Given the description of an element on the screen output the (x, y) to click on. 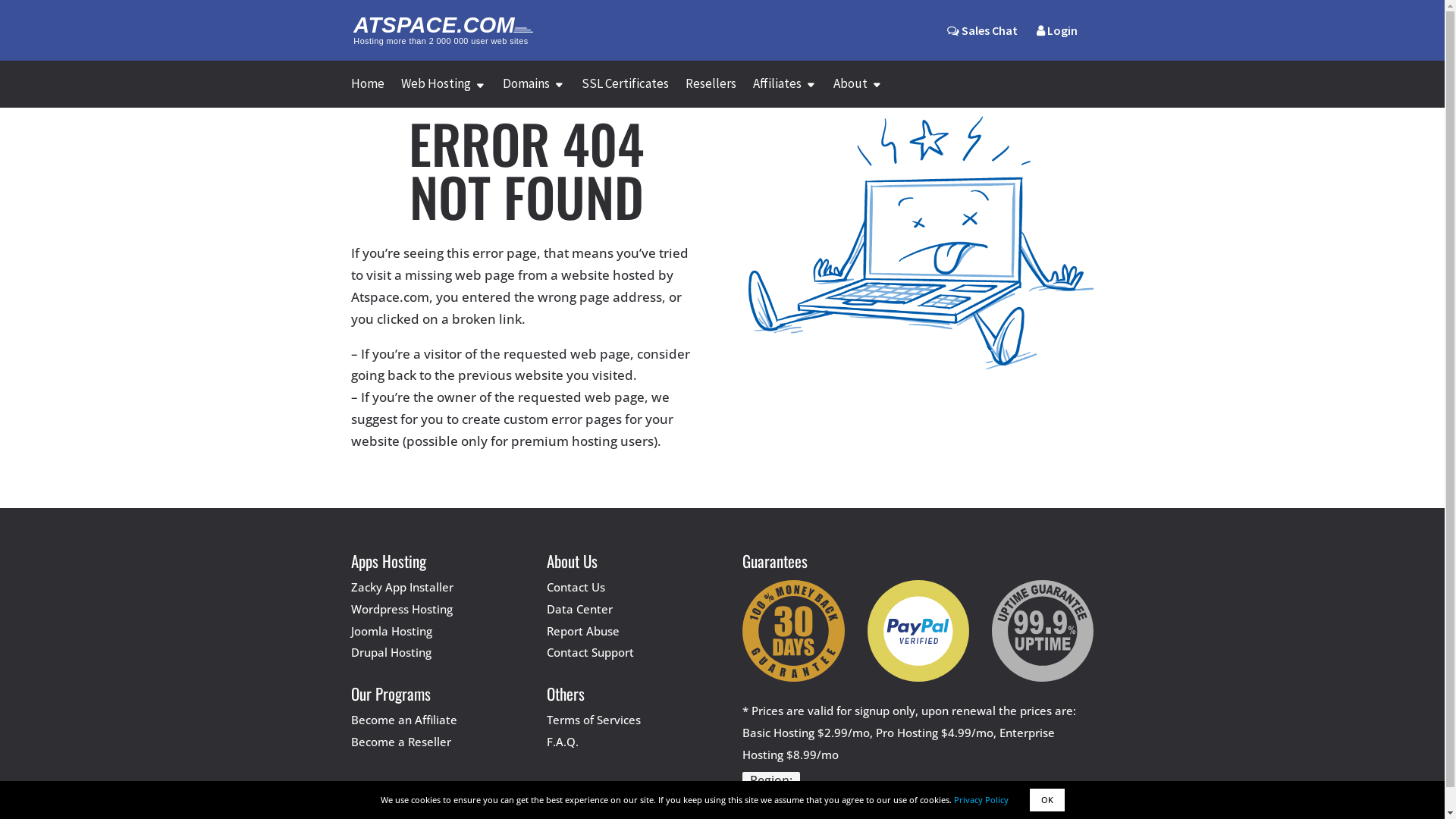
Contact Us Element type: text (575, 586)
Zacky App Installer Element type: text (401, 586)
Privacy Policy Element type: text (980, 799)
Sales Chat Element type: text (981, 42)
About Element type: text (856, 92)
Resellers Element type: text (710, 92)
Affiliates Element type: text (783, 92)
OK Element type: text (1046, 799)
Domains Element type: text (533, 92)
Login Element type: text (1055, 42)
SSL Certificates Element type: text (624, 92)
Become an Affiliate Element type: text (403, 719)
Terms of Services Element type: text (593, 719)
Drupal Hosting Element type: text (390, 651)
Joomla Hosting Element type: text (390, 630)
F.A.Q. Element type: text (562, 741)
Home Element type: text (366, 92)
Data Center Element type: text (579, 608)
Contact Support Element type: text (589, 651)
Sales Chat Element type: text (981, 29)
Become a Reseller Element type: text (400, 741)
Report Abuse Element type: text (582, 630)
Wordpress Hosting Element type: text (400, 608)
Web Hosting Element type: text (442, 92)
